Given the description of an element on the screen output the (x, y) to click on. 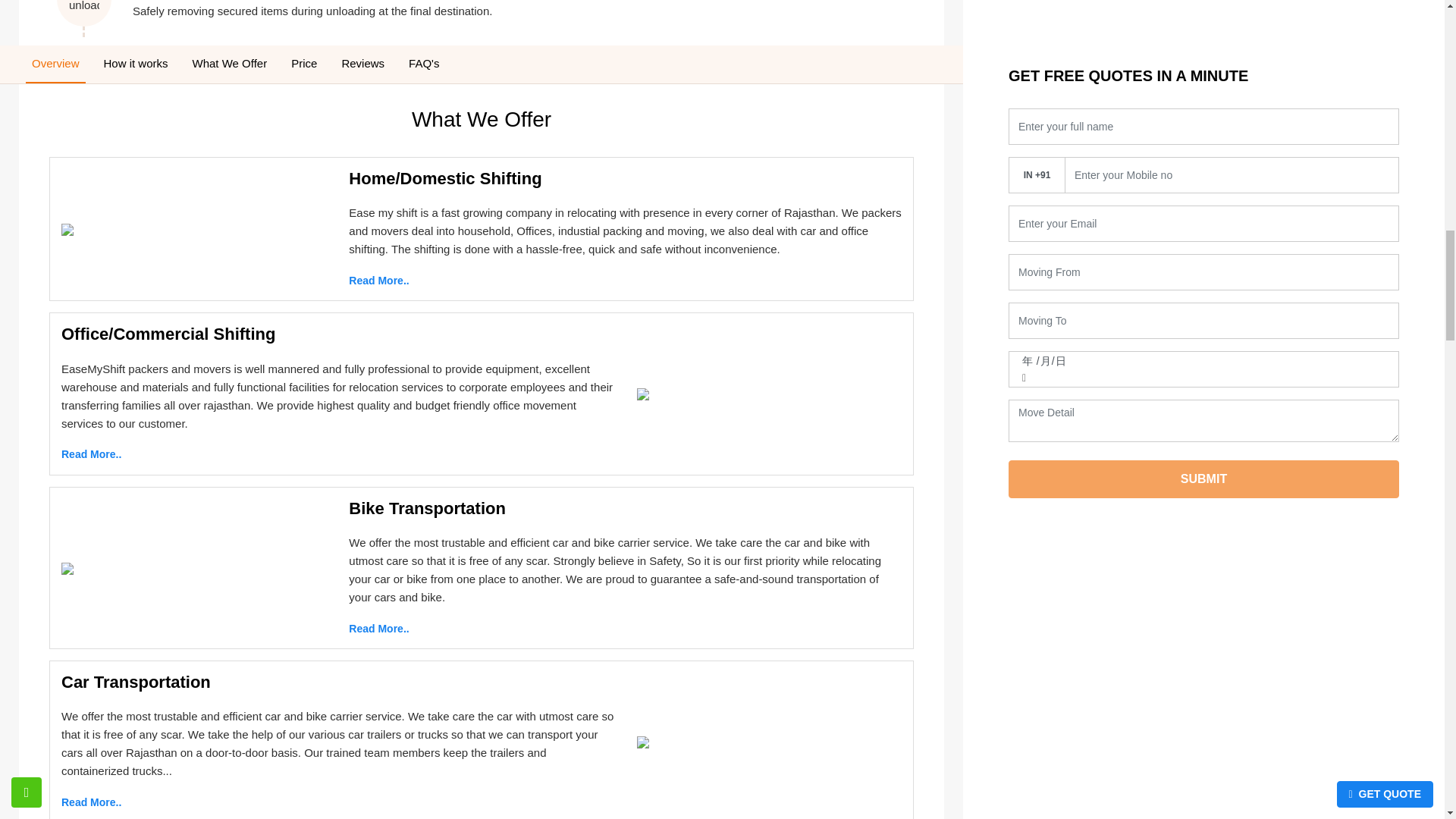
Read More.. (379, 280)
Read More.. (90, 802)
Read More.. (379, 627)
Read More.. (90, 454)
